Given the description of an element on the screen output the (x, y) to click on. 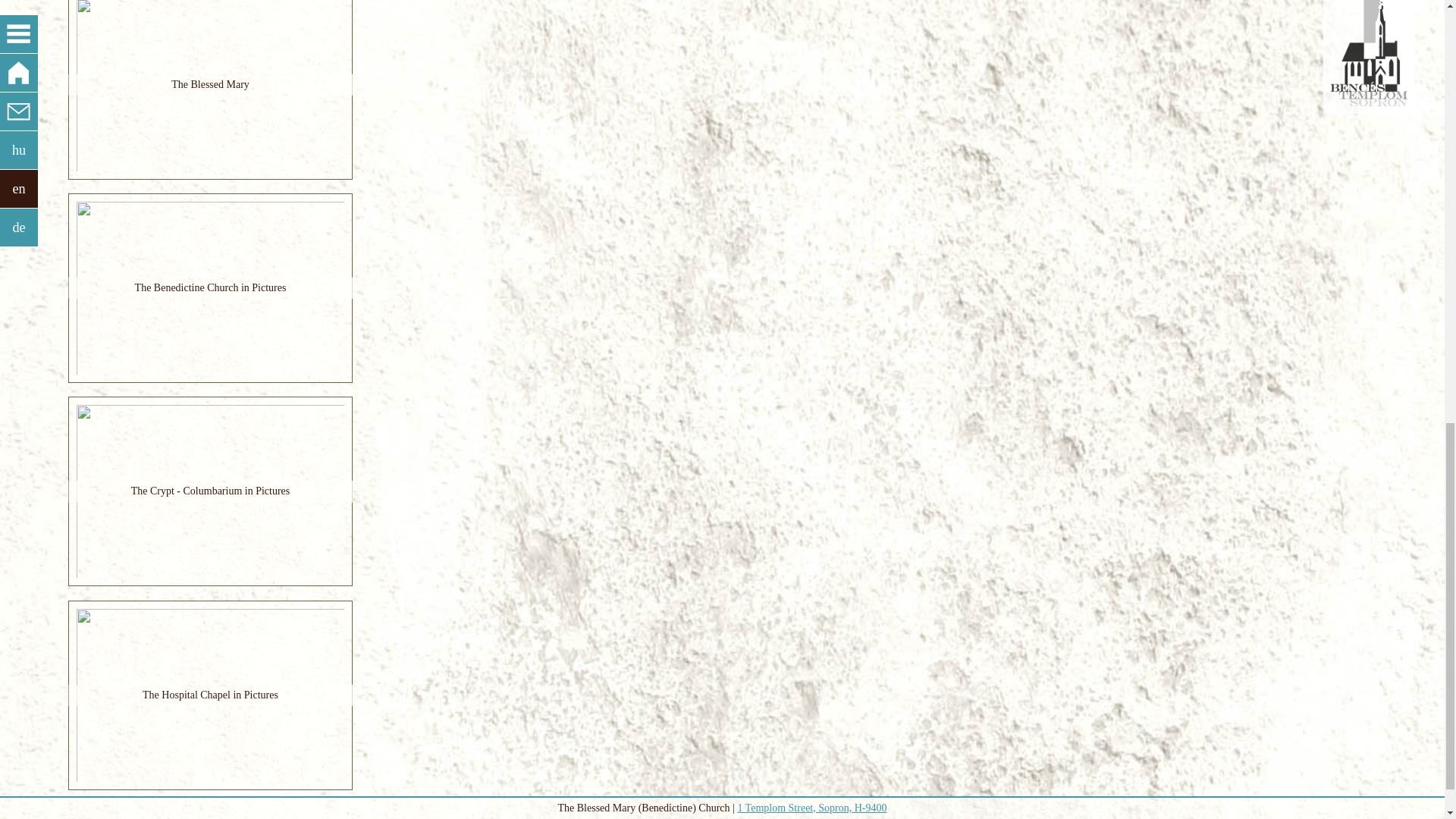
The Blessed Mary (210, 84)
The Crypt - Columbarium in Pictures (210, 491)
The Benedictine Church in Pictures (210, 287)
The Hospital Chapel in Pictures (210, 694)
